Given the description of an element on the screen output the (x, y) to click on. 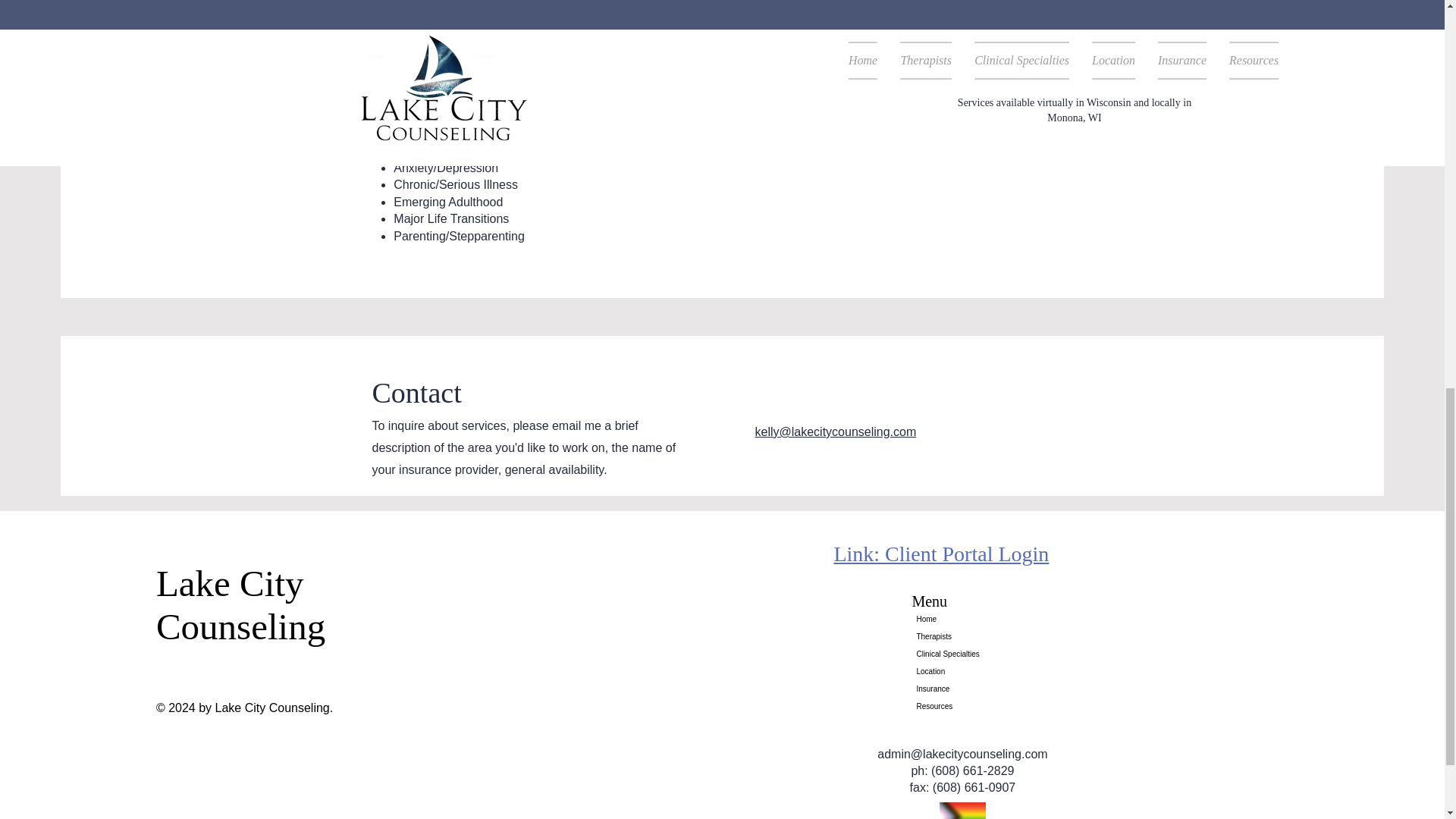
Location (962, 671)
Clinical Specialties (962, 653)
Insurance (962, 688)
Home (962, 619)
Therapists (962, 636)
LGBTQ Flag.png (962, 810)
Resources (962, 705)
Link: Client Portal Login (940, 553)
